Given the description of an element on the screen output the (x, y) to click on. 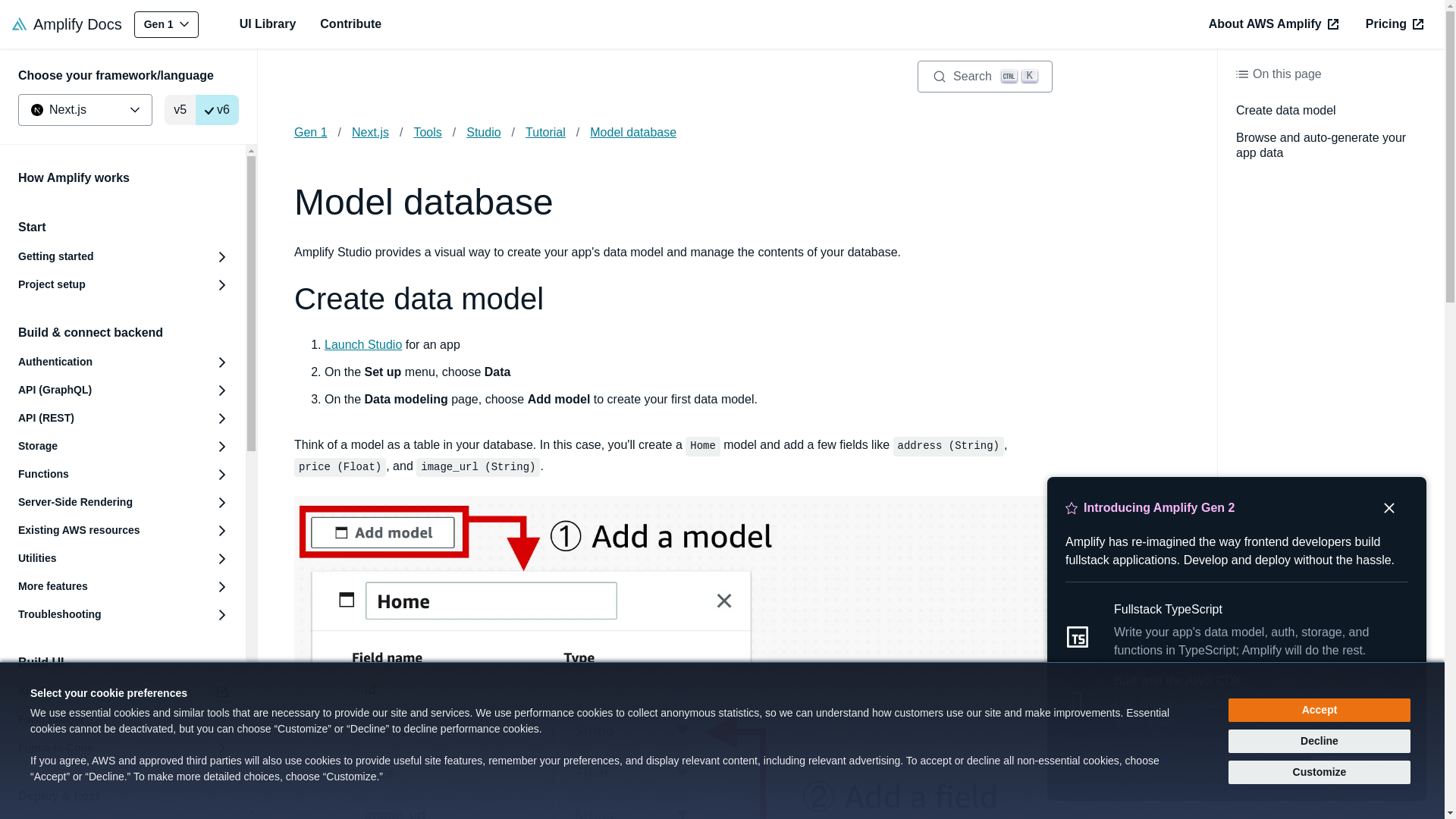
v5 (179, 110)
Contribute (350, 24)
Accept (1319, 709)
Amplify Docs (66, 24)
Next.js (84, 110)
About AWS Amplify (1273, 24)
Getting started (123, 256)
Dismiss Gen 2 introduction dialog (1388, 507)
Learn more (1359, 768)
Skip to main content (165, 23)
Decline (722, 14)
UI Library (984, 76)
Start (1319, 740)
